Given the description of an element on the screen output the (x, y) to click on. 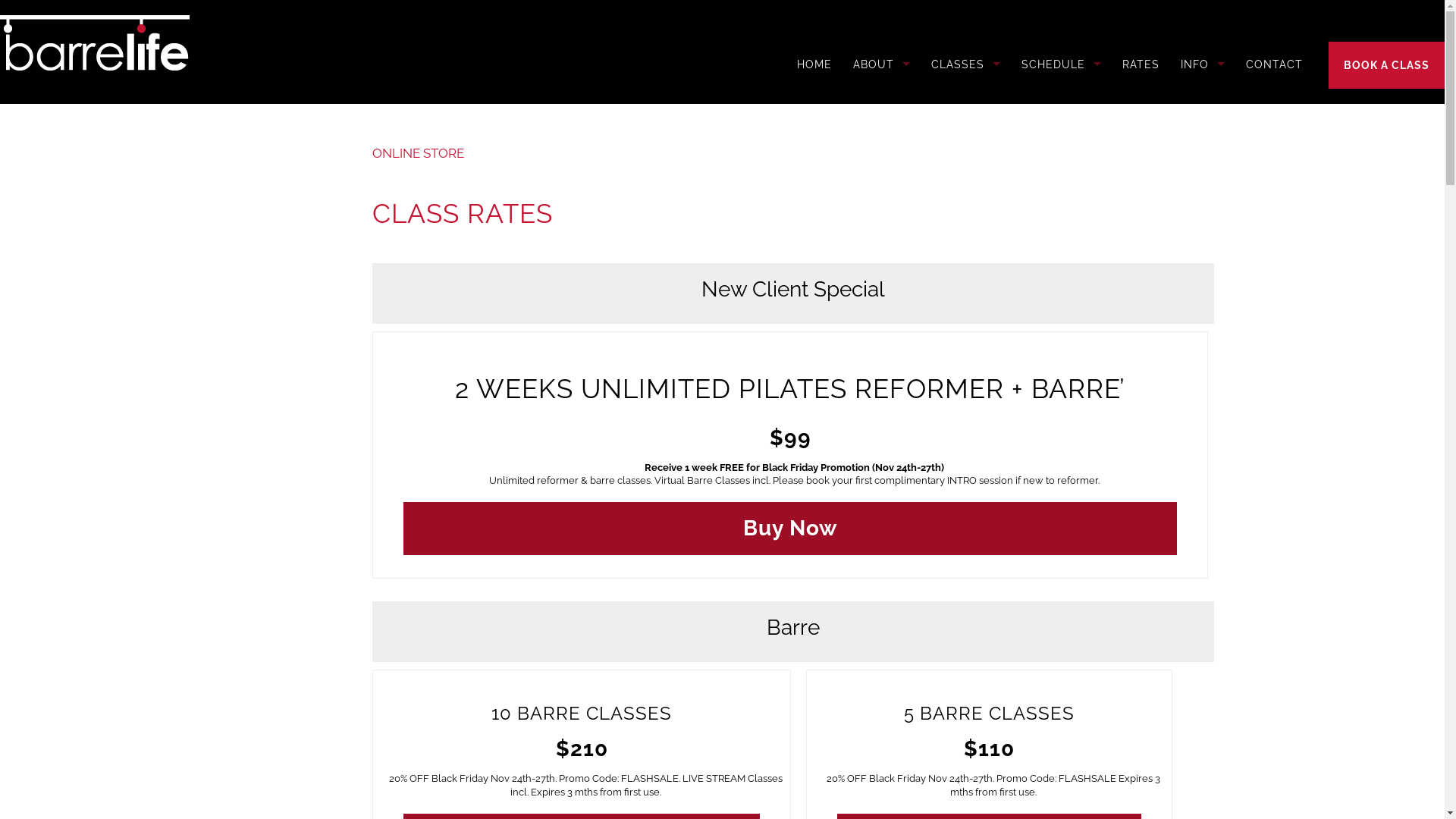
INFO Element type: text (1202, 64)
SCHEDULE Element type: text (1060, 64)
ONLINE STORE Element type: text (418, 152)
CLASSES Element type: text (965, 64)
BOOK A CLASS Element type: text (1386, 64)
HOME Element type: text (814, 64)
ABOUT Element type: text (881, 64)
Buy Now Element type: text (789, 528)
RATES Element type: text (1140, 64)
CONTACT Element type: text (1274, 64)
